Given the description of an element on the screen output the (x, y) to click on. 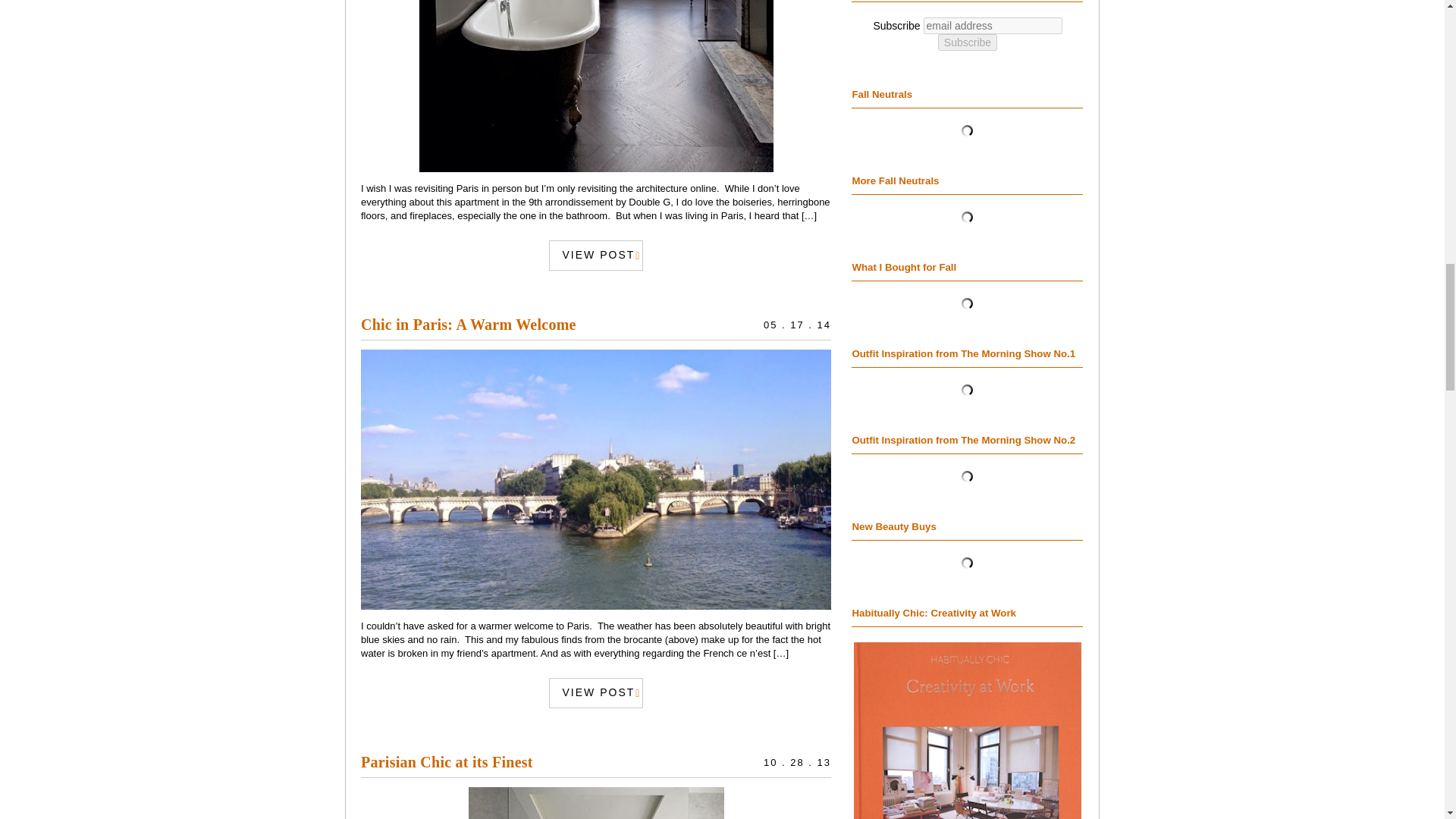
Chic in Paris: A Warm Welcome (468, 324)
View This Post (595, 255)
View This Post (595, 692)
Subscribe (967, 42)
Parisian Chic at its Finest (446, 761)
Subscribe (967, 42)
VIEW POST (595, 692)
View This Post (596, 803)
View This Post (468, 324)
View This Post (596, 479)
VIEW POST (595, 255)
View This Post (596, 85)
View This Post (446, 761)
